Given the description of an element on the screen output the (x, y) to click on. 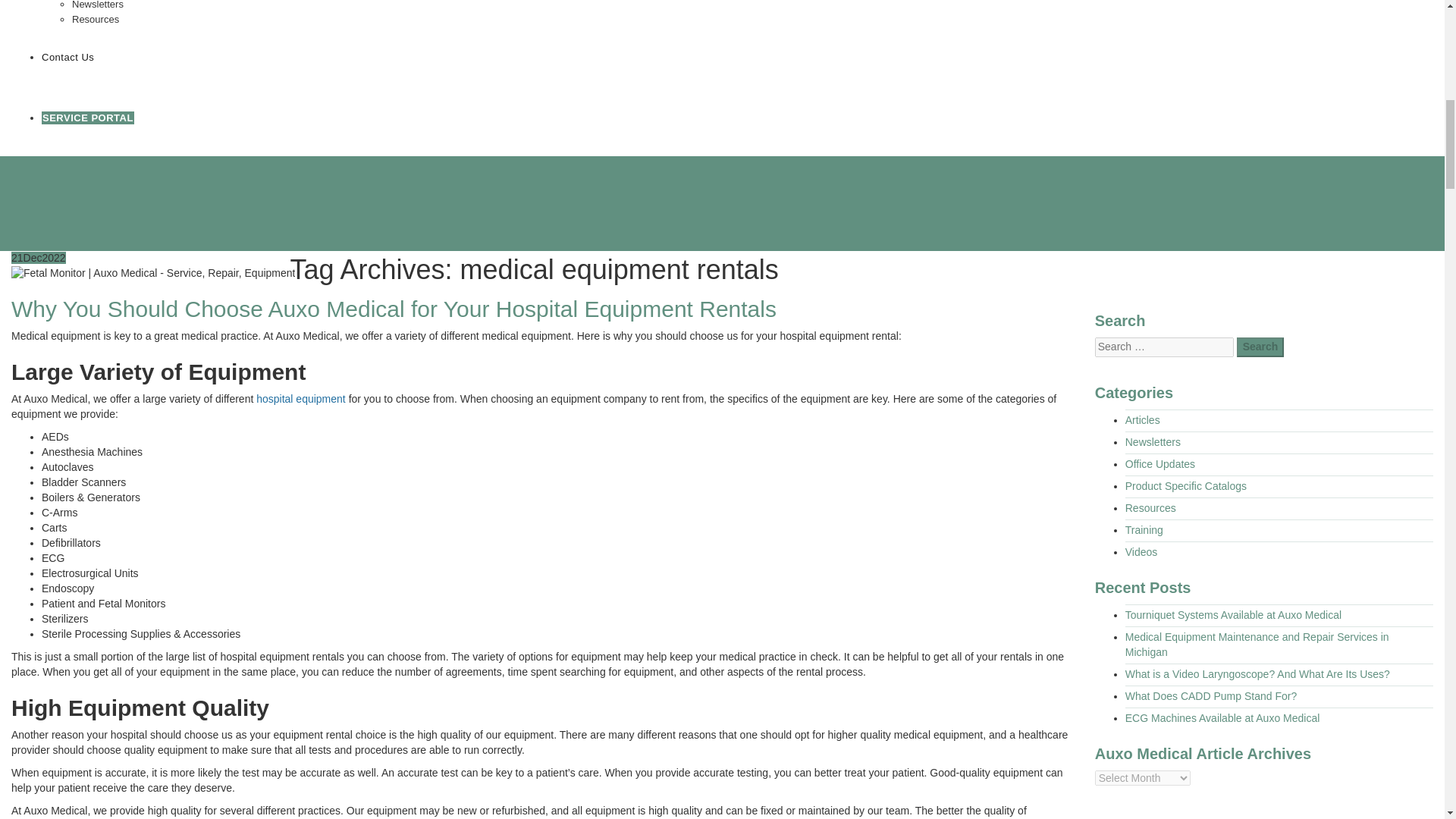
Search (1260, 347)
Login for Active Service Agreement Holders (87, 117)
Resources (95, 19)
Search (1260, 347)
Newsletters (97, 4)
SERVICE PORTAL (87, 117)
Contact Us (68, 57)
